Given the description of an element on the screen output the (x, y) to click on. 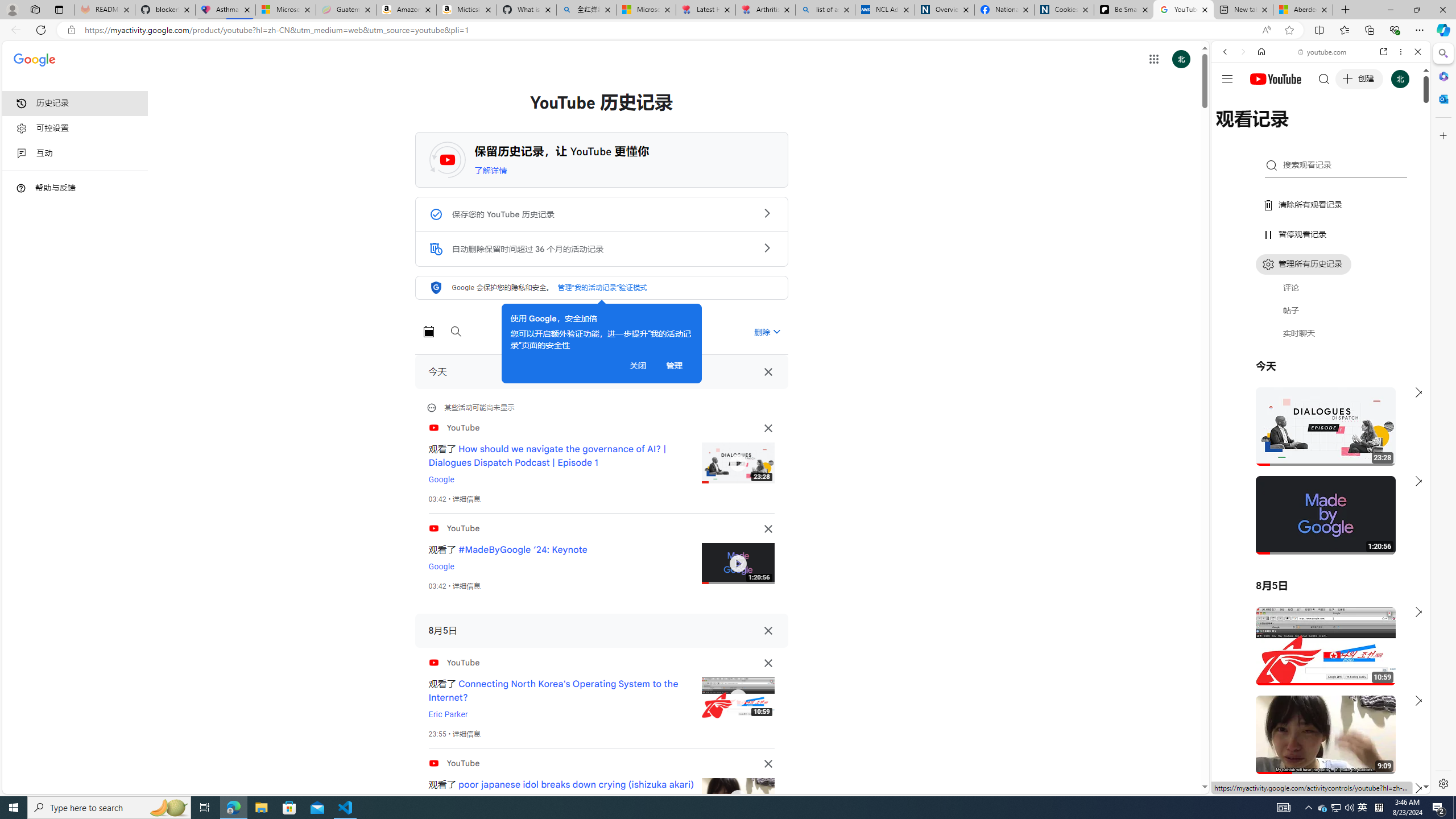
Connecting North Korea's Operating System to the Internet? (553, 690)
Asthma Inhalers: Names and Types (225, 9)
Class: DI7Mnf NMm5M (767, 630)
